Given the description of an element on the screen output the (x, y) to click on. 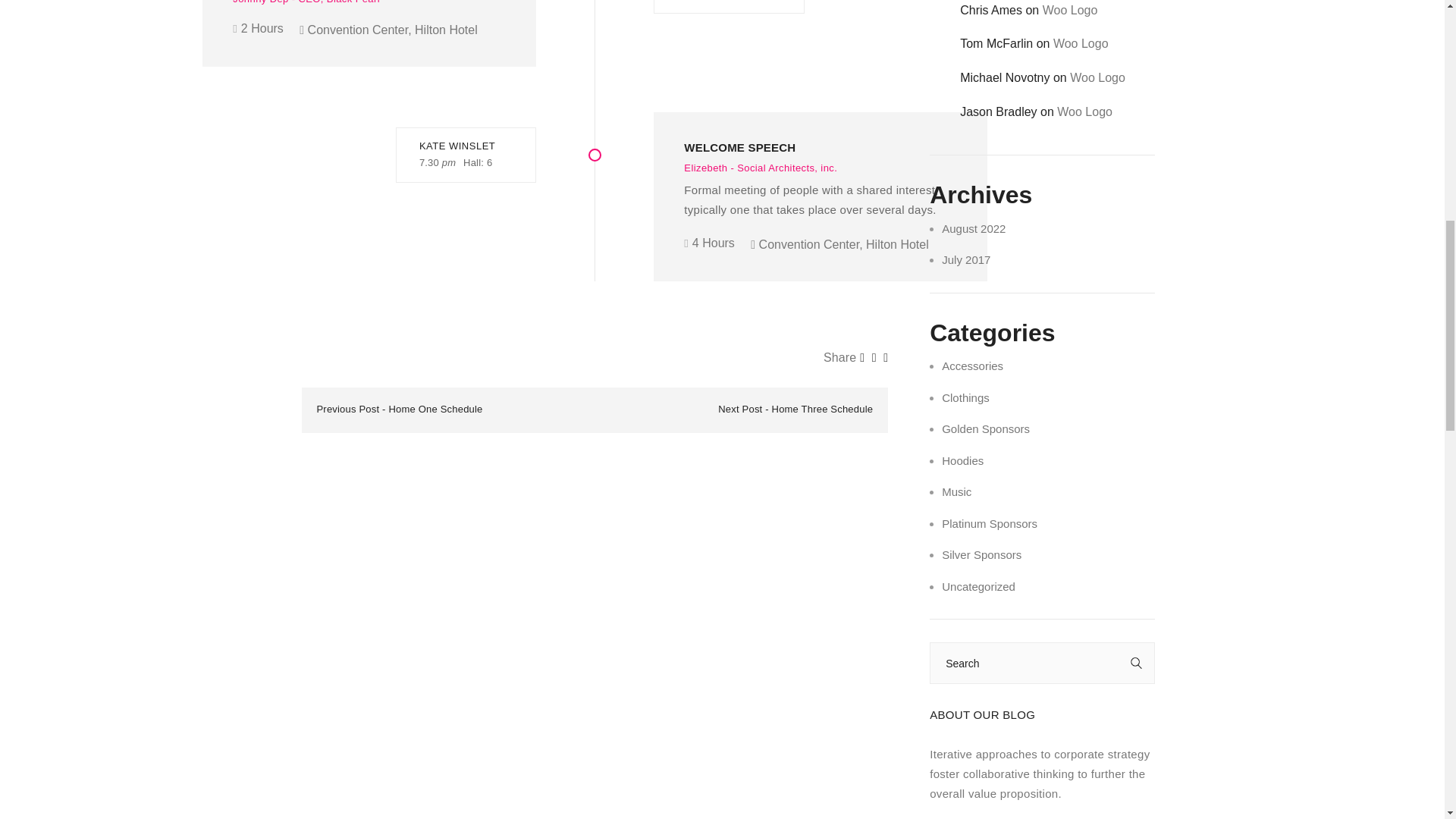
Home One Schedule (434, 408)
Home Three Schedule (822, 408)
Home Three Schedule (822, 408)
Home One Schedule (434, 408)
